Given the description of an element on the screen output the (x, y) to click on. 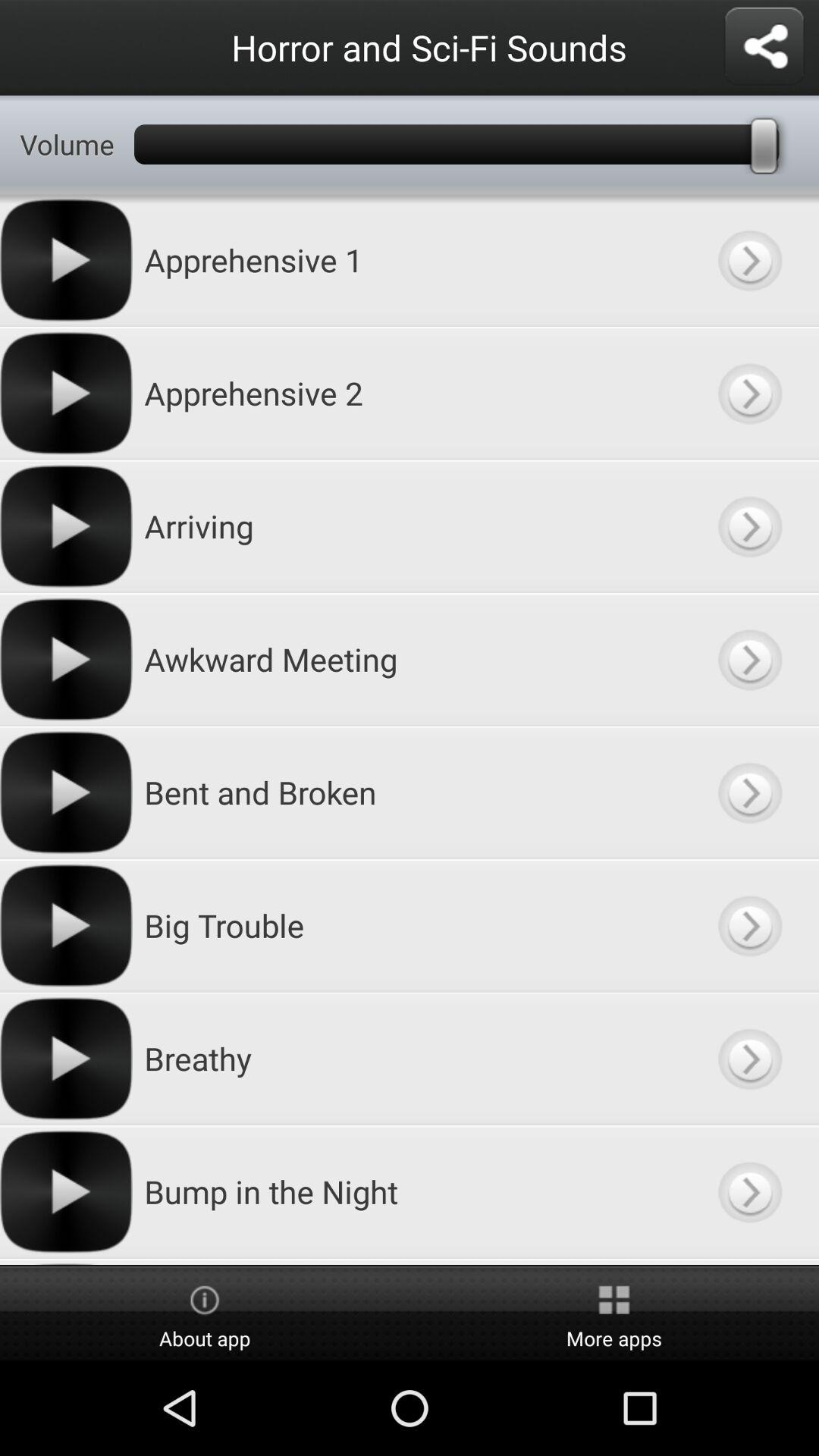
information (749, 259)
